Given the description of an element on the screen output the (x, y) to click on. 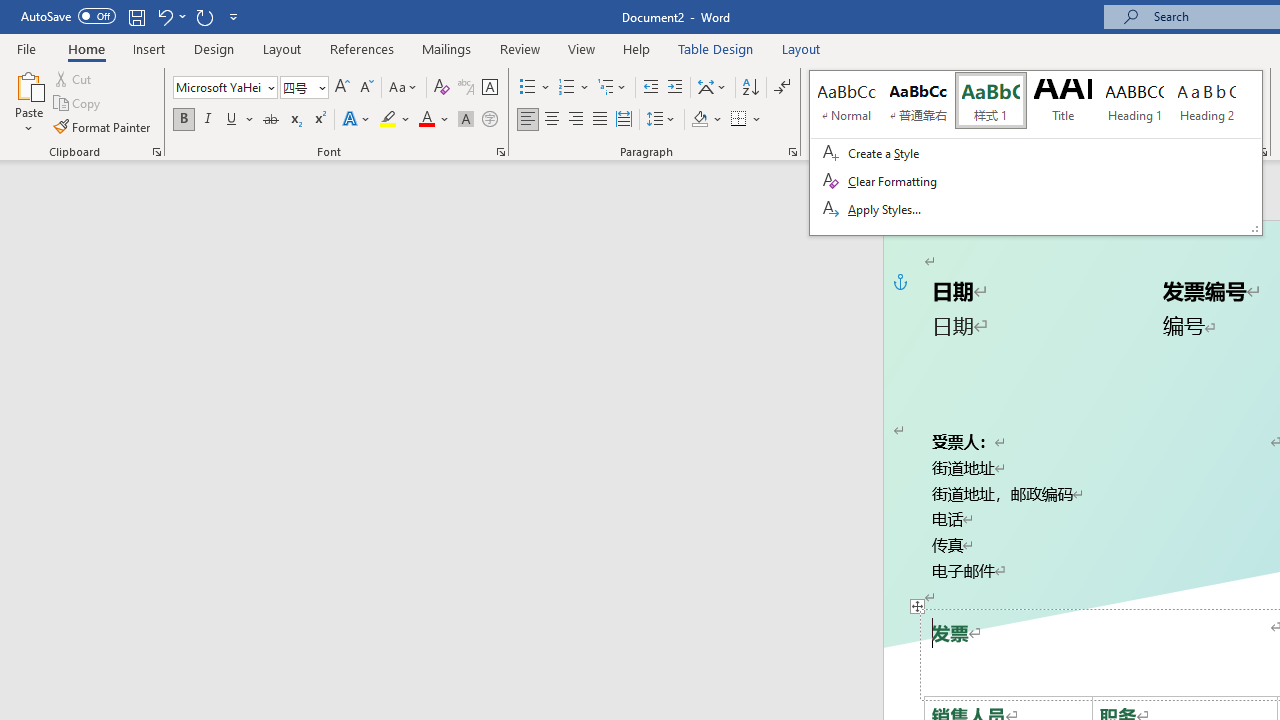
Font Color RGB(255, 0, 0) (426, 119)
Class: Net UI Tool Window (1035, 152)
